Given the description of an element on the screen output the (x, y) to click on. 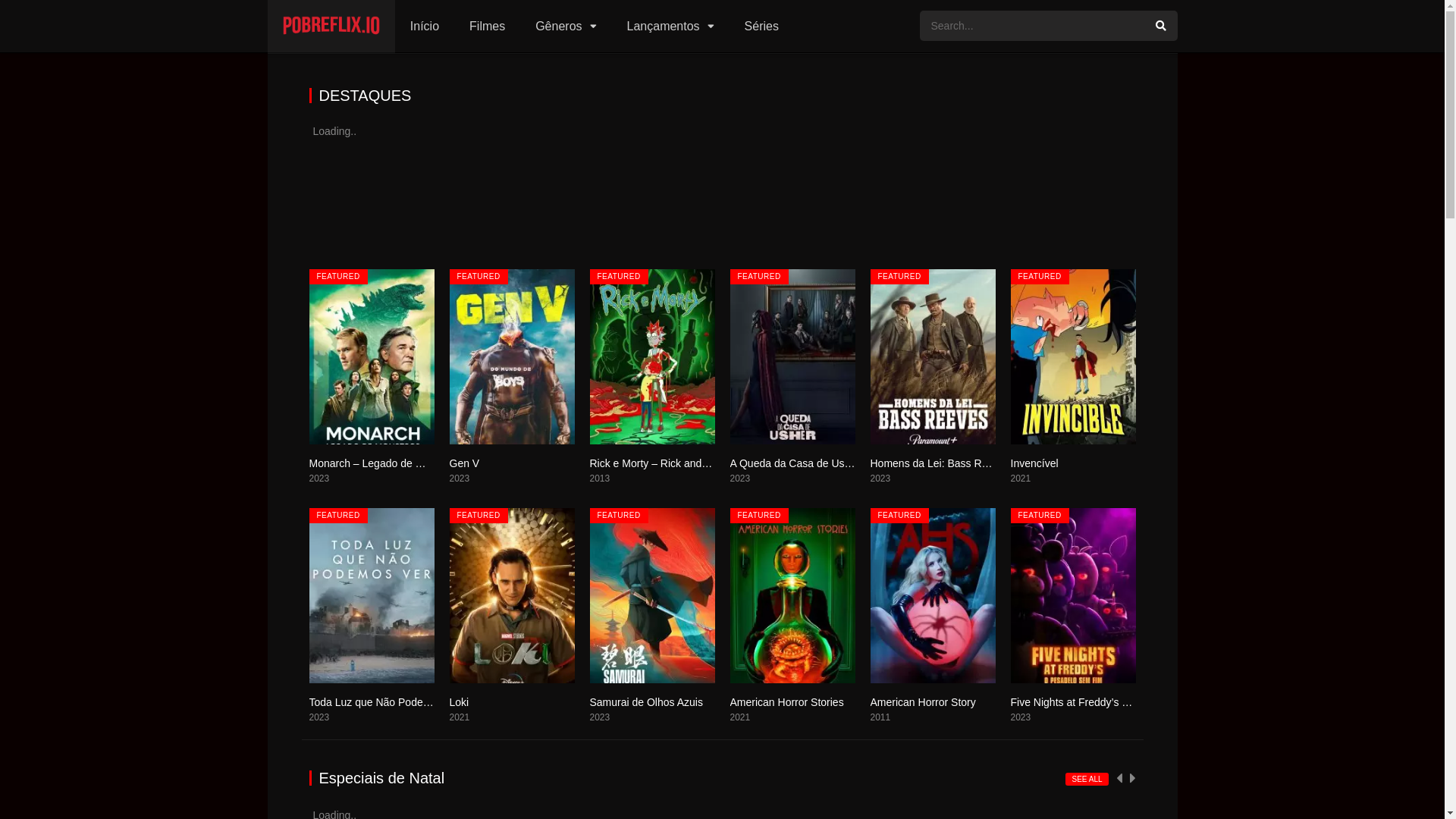
American Horror Stories Element type: text (786, 702)
Filmes Element type: text (487, 26)
SEE ALL Element type: text (1086, 778)
American Horror Story Element type: text (922, 702)
Loki Element type: text (458, 702)
Samurai de Olhos Azuis Element type: text (645, 702)
Gen V Element type: text (463, 463)
A Queda da Casa de Usher Element type: text (794, 463)
Homens da Lei: Bass Reeves Element type: text (940, 463)
